Given the description of an element on the screen output the (x, y) to click on. 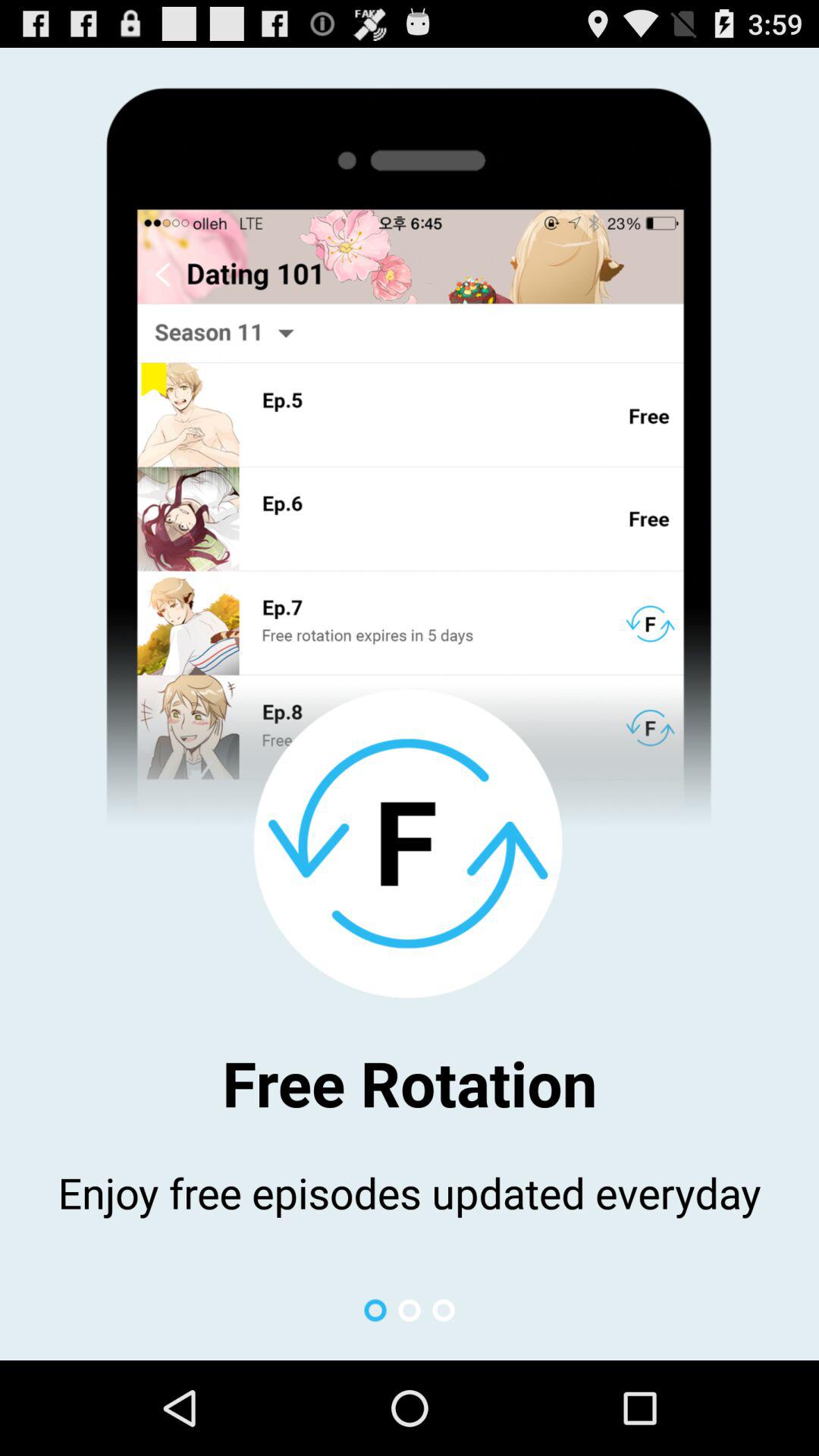
launch icon below the enjoy free episodes app (409, 1310)
